Given the description of an element on the screen output the (x, y) to click on. 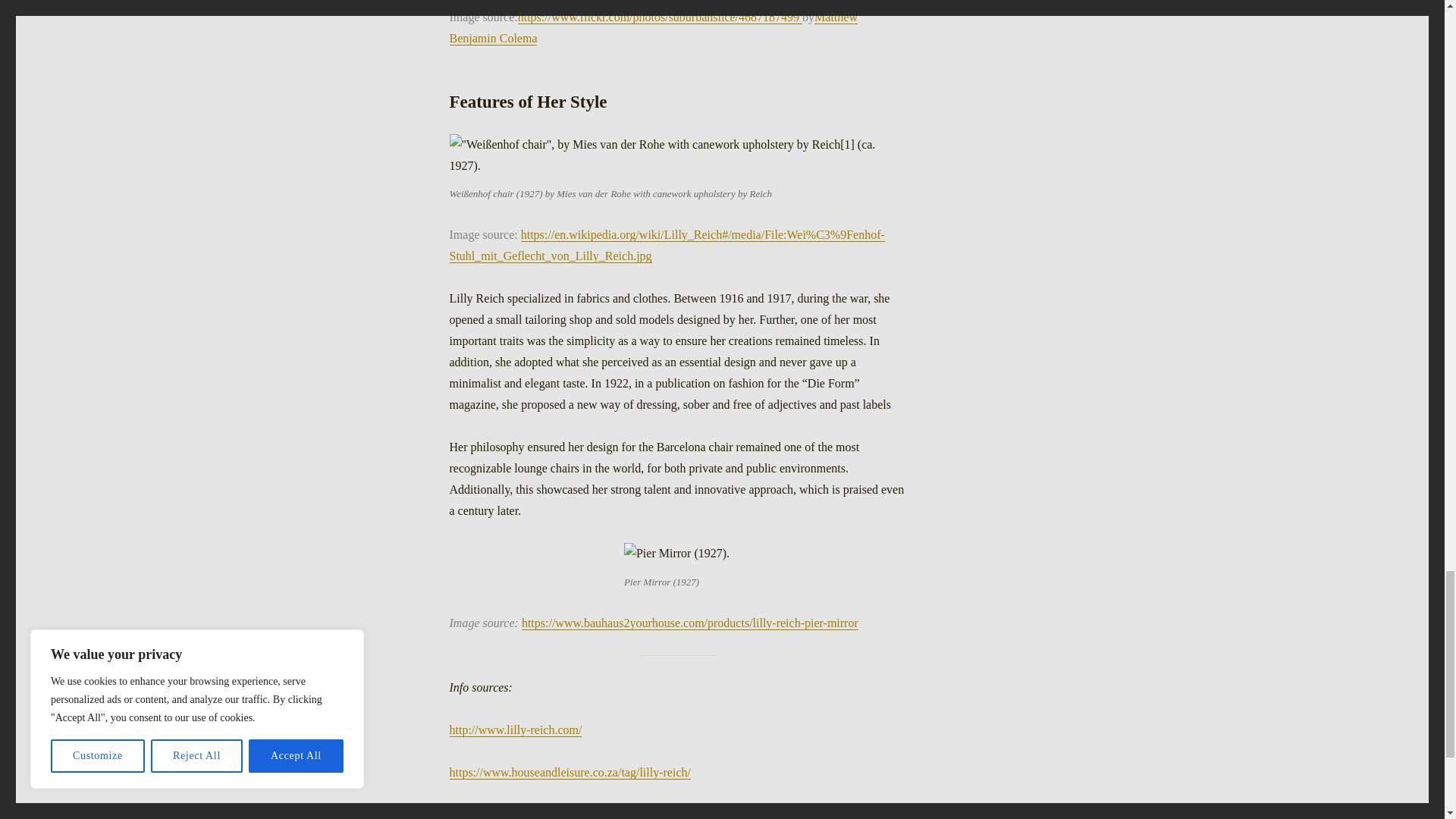
Matthew Benjamin Colema (652, 27)
Go to Matthew Benjamin Coleman's photostream (652, 27)
